Given the description of an element on the screen output the (x, y) to click on. 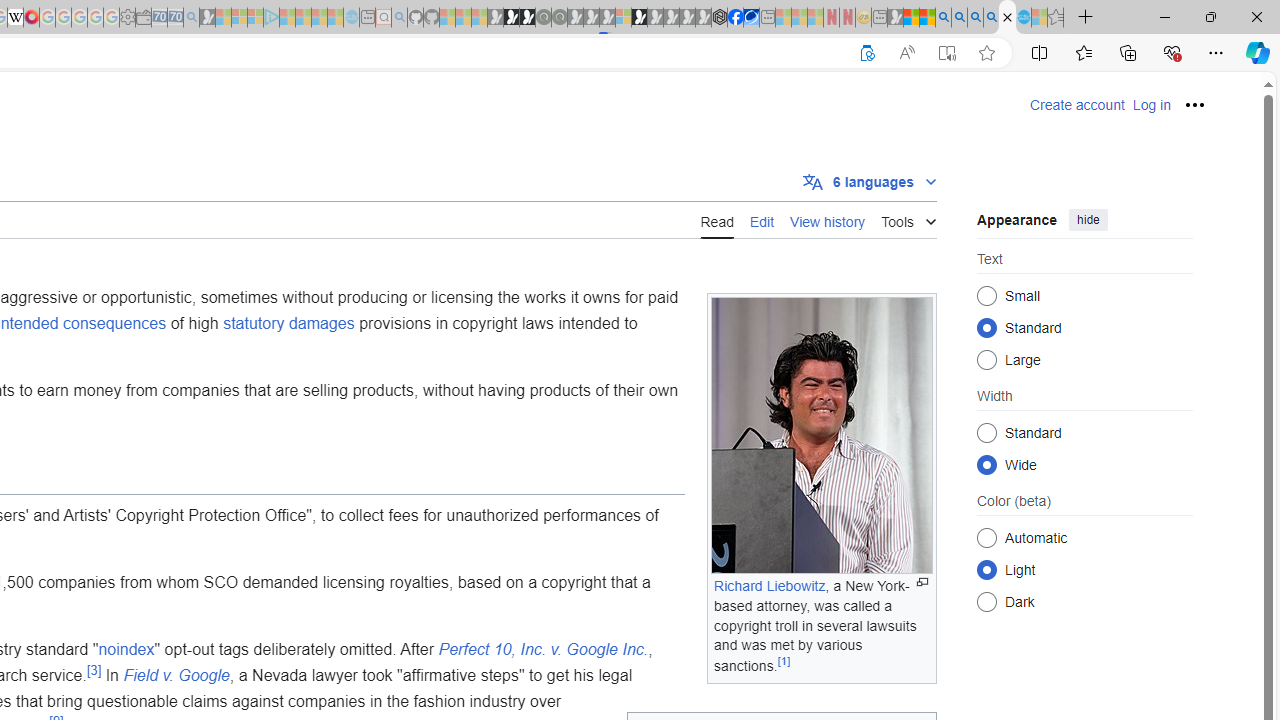
Dark (986, 601)
Nordace - Cooler Bags (719, 17)
Perfect 10, Inc. v. Google Inc. (542, 649)
github - Search - Sleeping (399, 17)
